Given the description of an element on the screen output the (x, y) to click on. 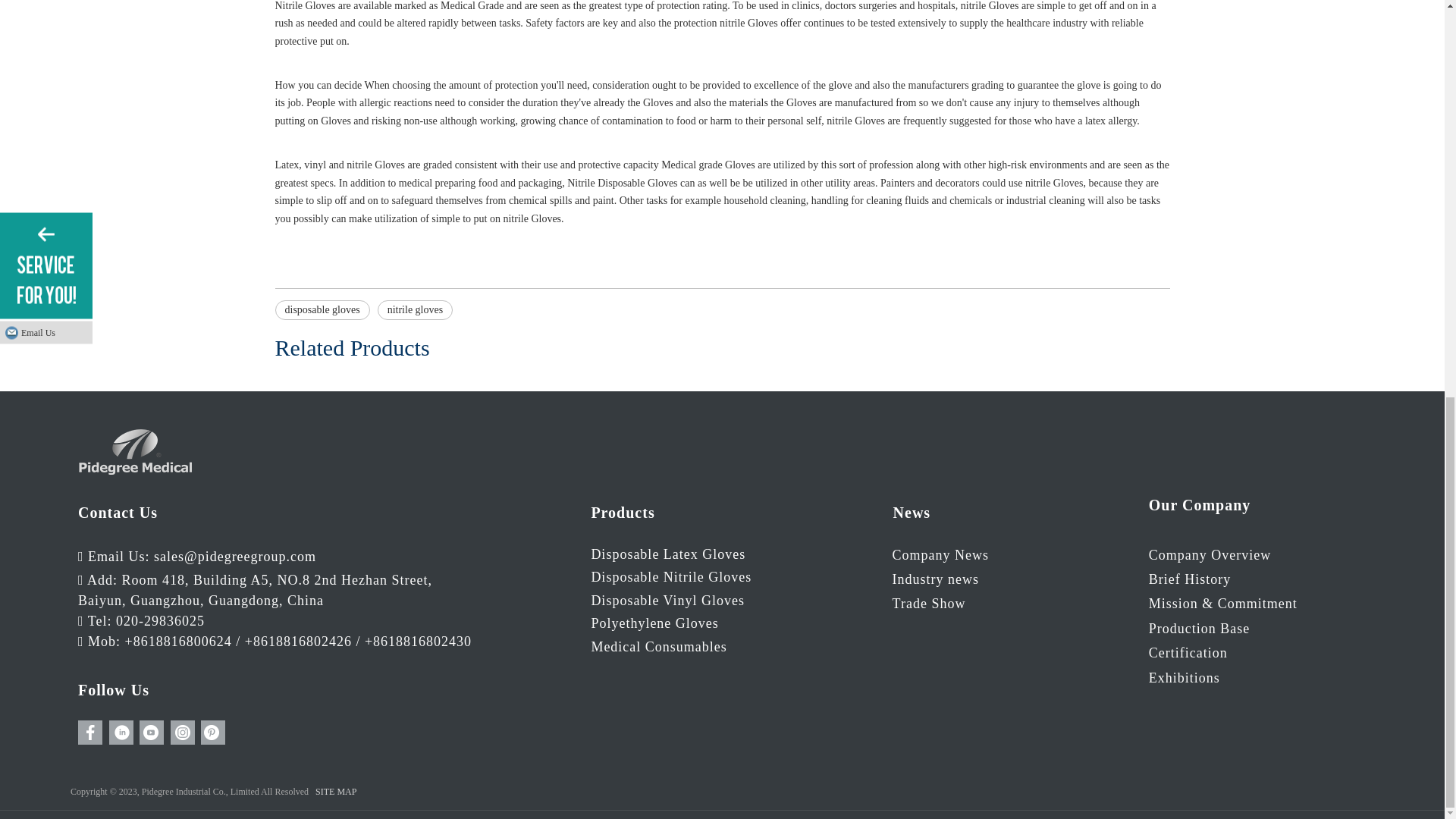
disposable gloves (322, 310)
Linkedin (121, 732)
Facebook (89, 732)
nitrile gloves (414, 310)
